Given the description of an element on the screen output the (x, y) to click on. 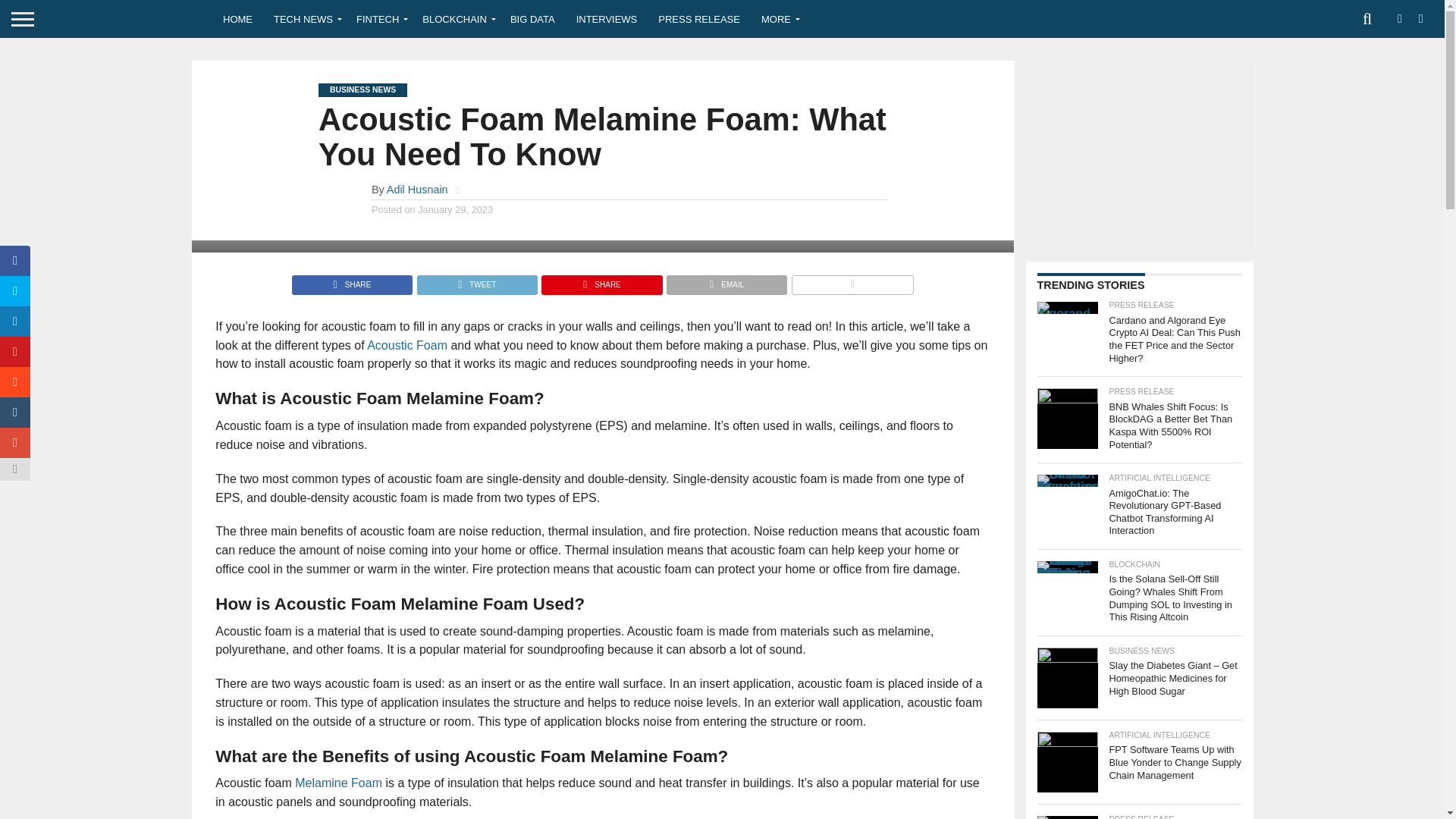
Share on Facebook (352, 280)
Tweet This Post (476, 280)
Posts by Adil Husnain (417, 189)
Pin This Post (601, 280)
